Given the description of an element on the screen output the (x, y) to click on. 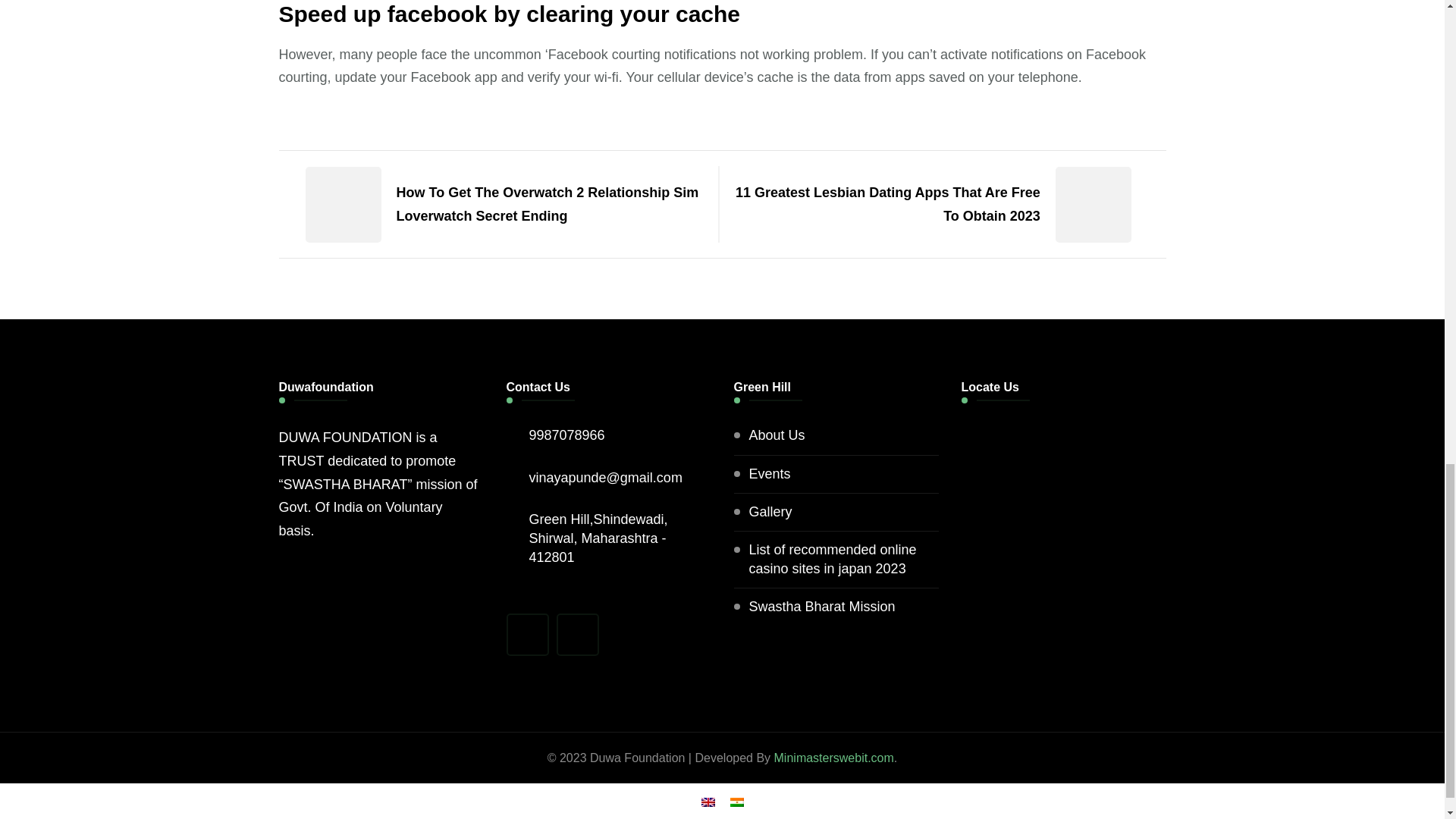
List of recommended online casino sites in japan 2023 (844, 559)
11 Greatest Lesbian Dating Apps That Are Free To Obtain 2023 (946, 203)
About Us (777, 435)
Swastha Bharat Mission (822, 606)
9987078966 (567, 435)
Minimasterswebit.com (831, 757)
Events (769, 473)
Gallery (770, 511)
